Given the description of an element on the screen output the (x, y) to click on. 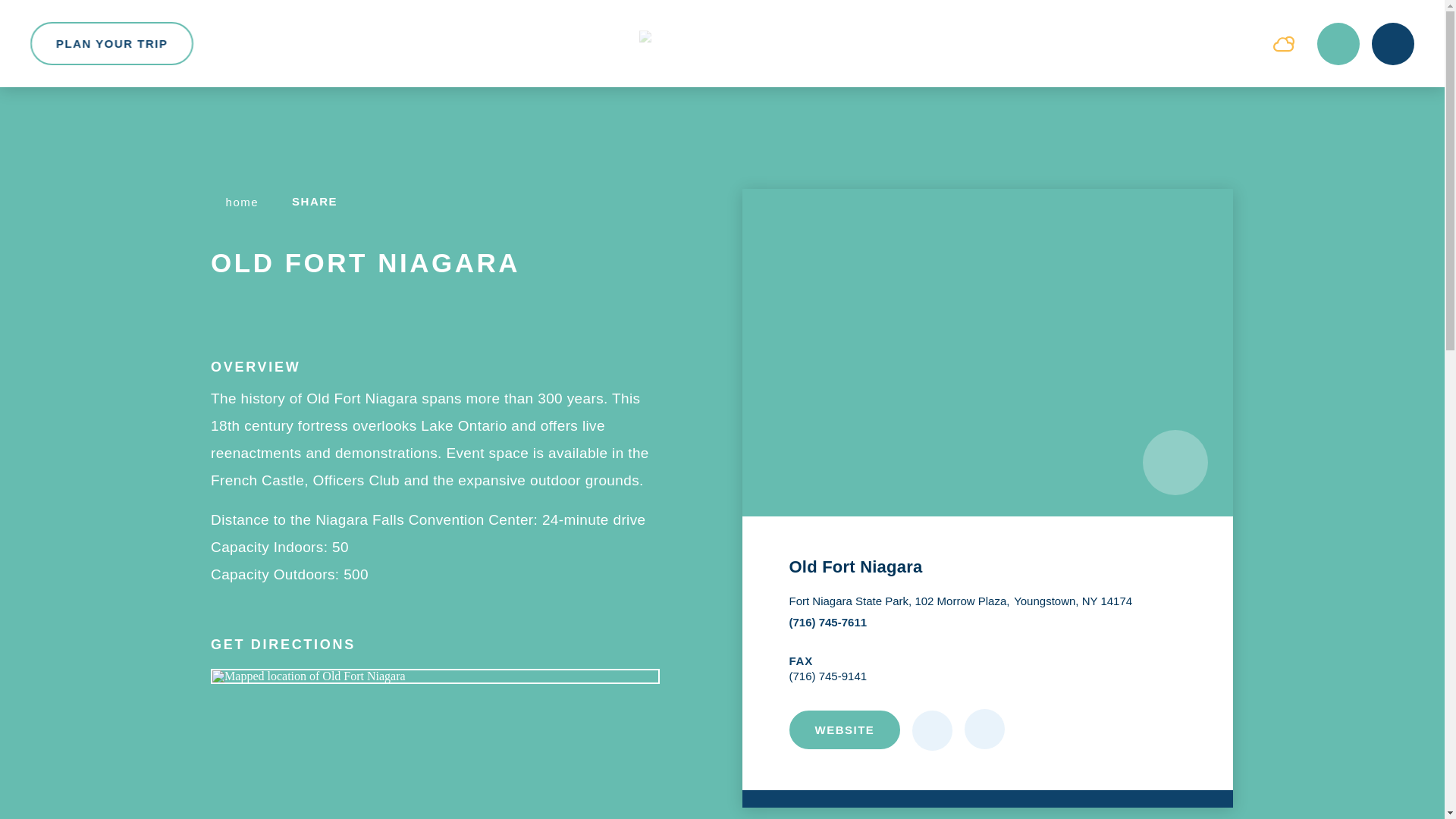
WEBSITE (845, 729)
home (236, 202)
Skip to content (48, 15)
SHARE (322, 201)
